Given the description of an element on the screen output the (x, y) to click on. 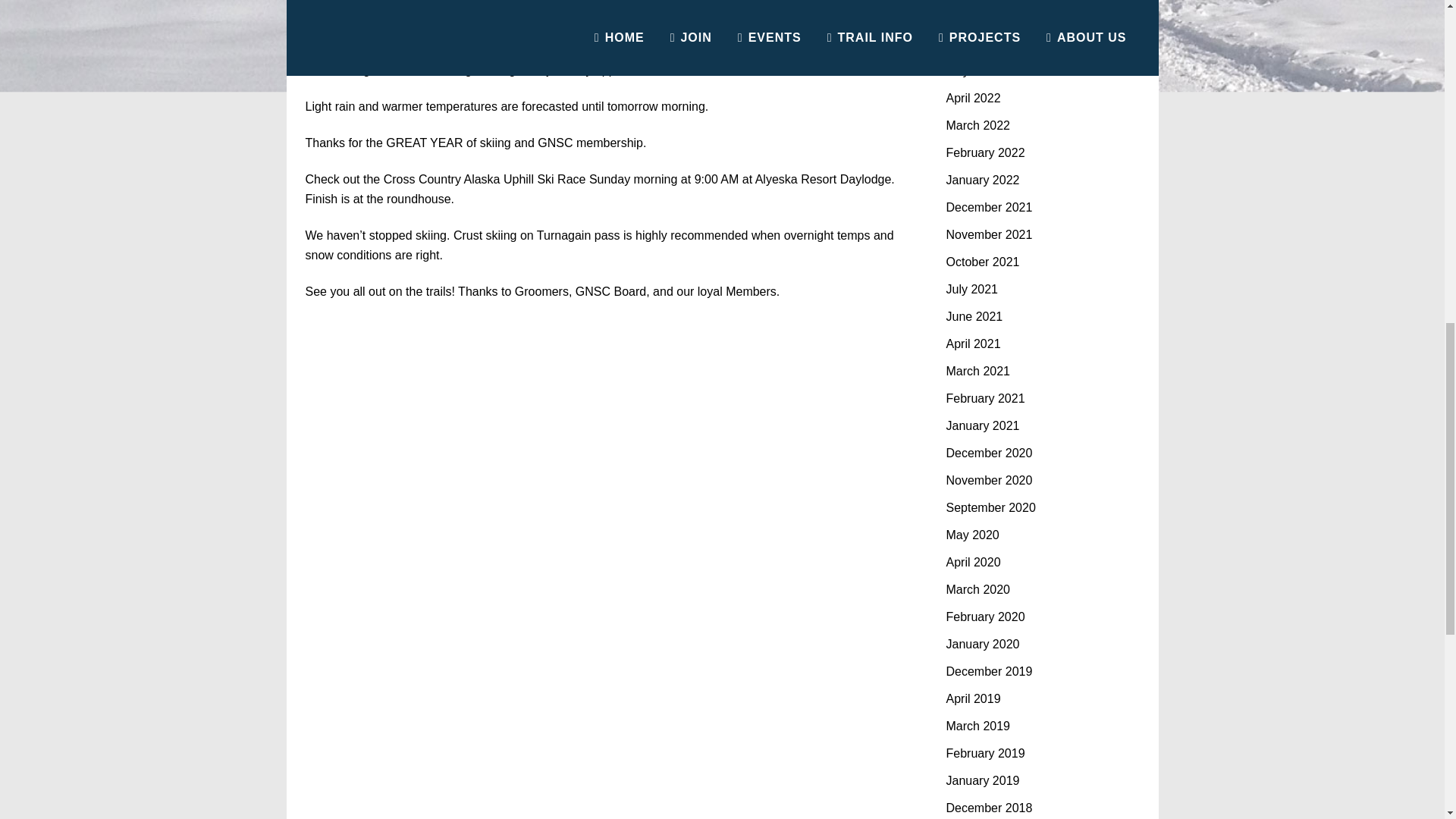
May 2022 (972, 70)
Trail Report (444, 36)
August 2022 (980, 15)
groomer (517, 36)
June 2022 (974, 42)
